Given the description of an element on the screen output the (x, y) to click on. 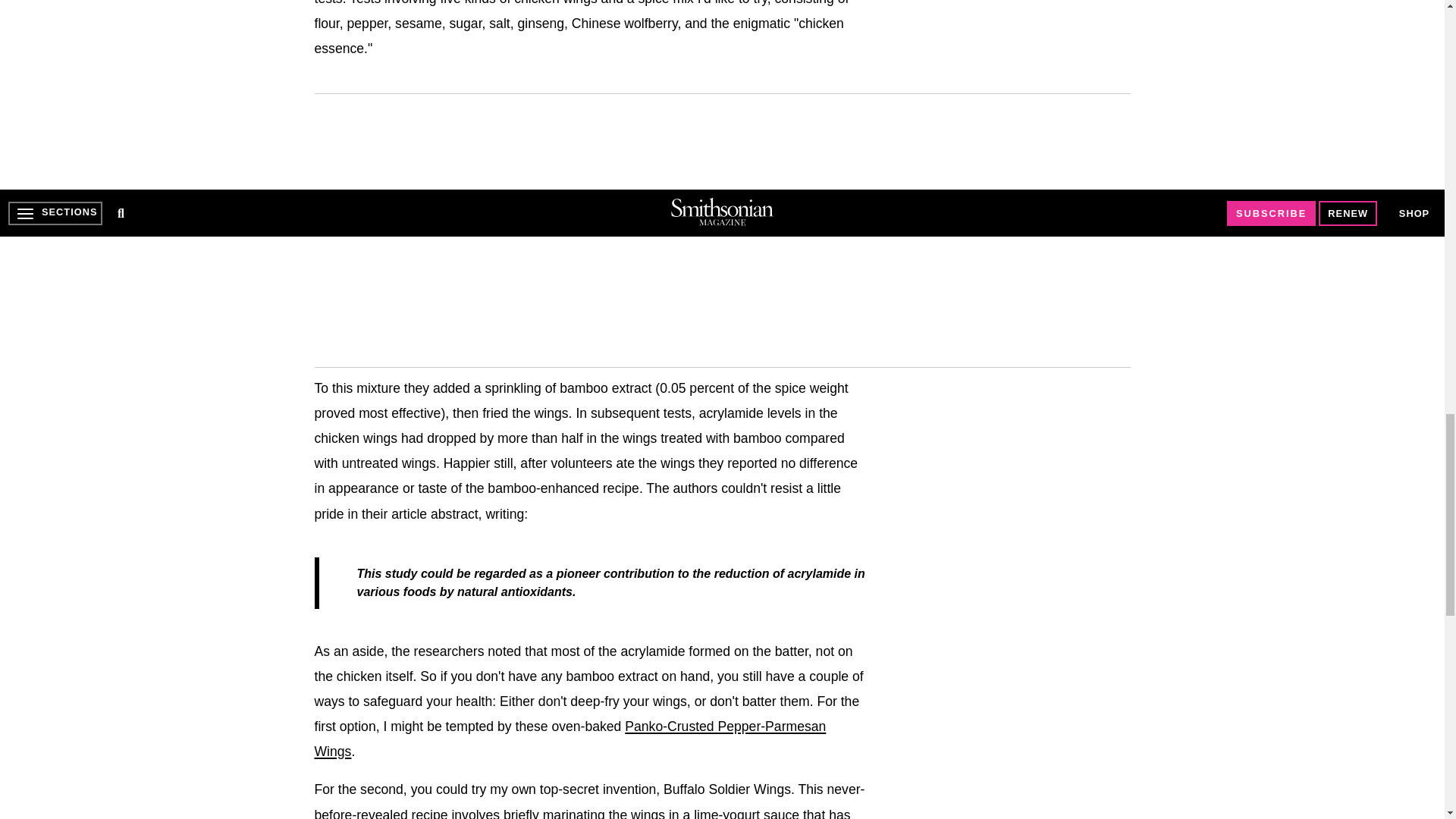
Buffalo Wings Recipe (569, 739)
